Given the description of an element on the screen output the (x, y) to click on. 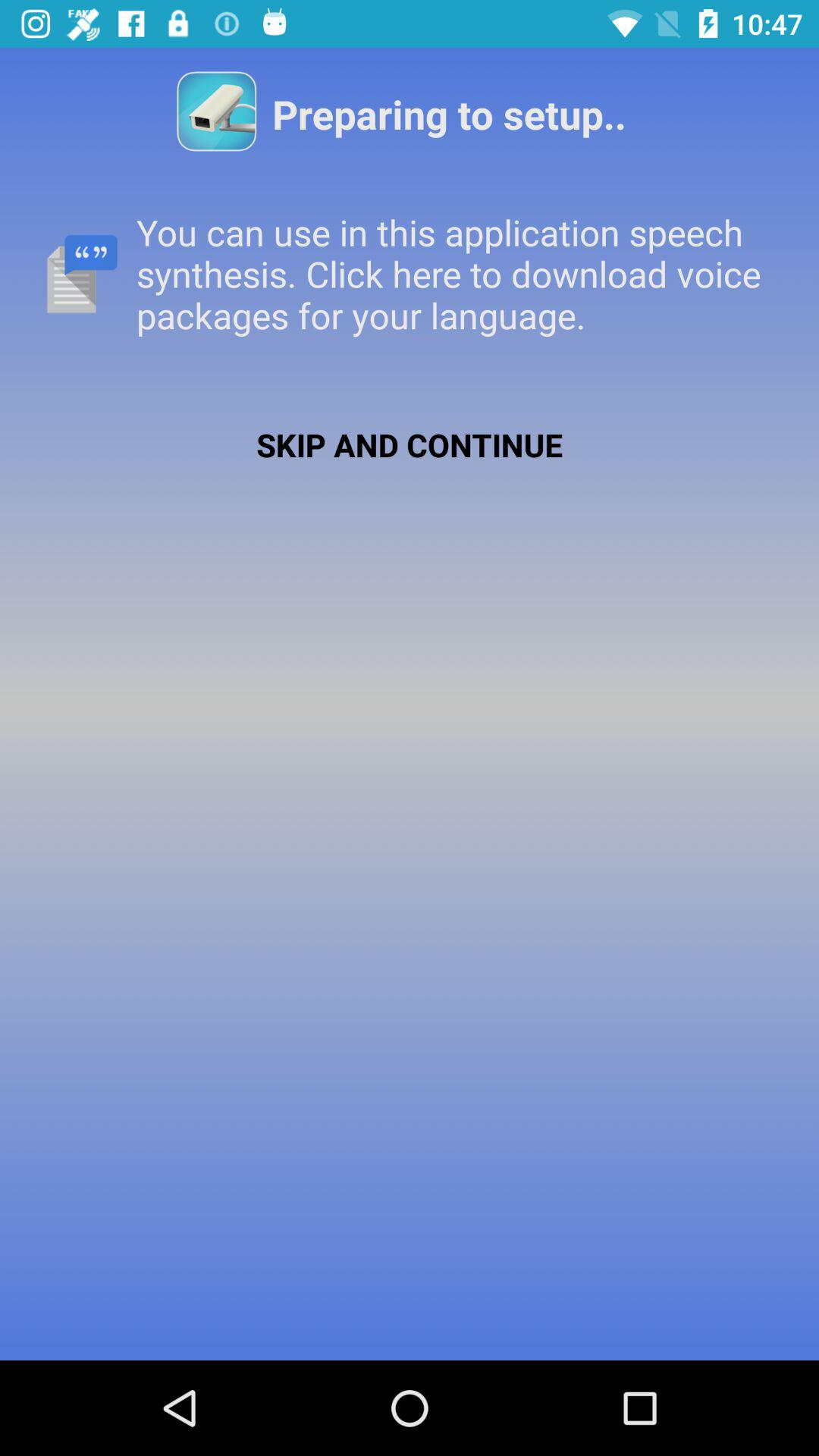
open the you can use item (409, 273)
